Given the description of an element on the screen output the (x, y) to click on. 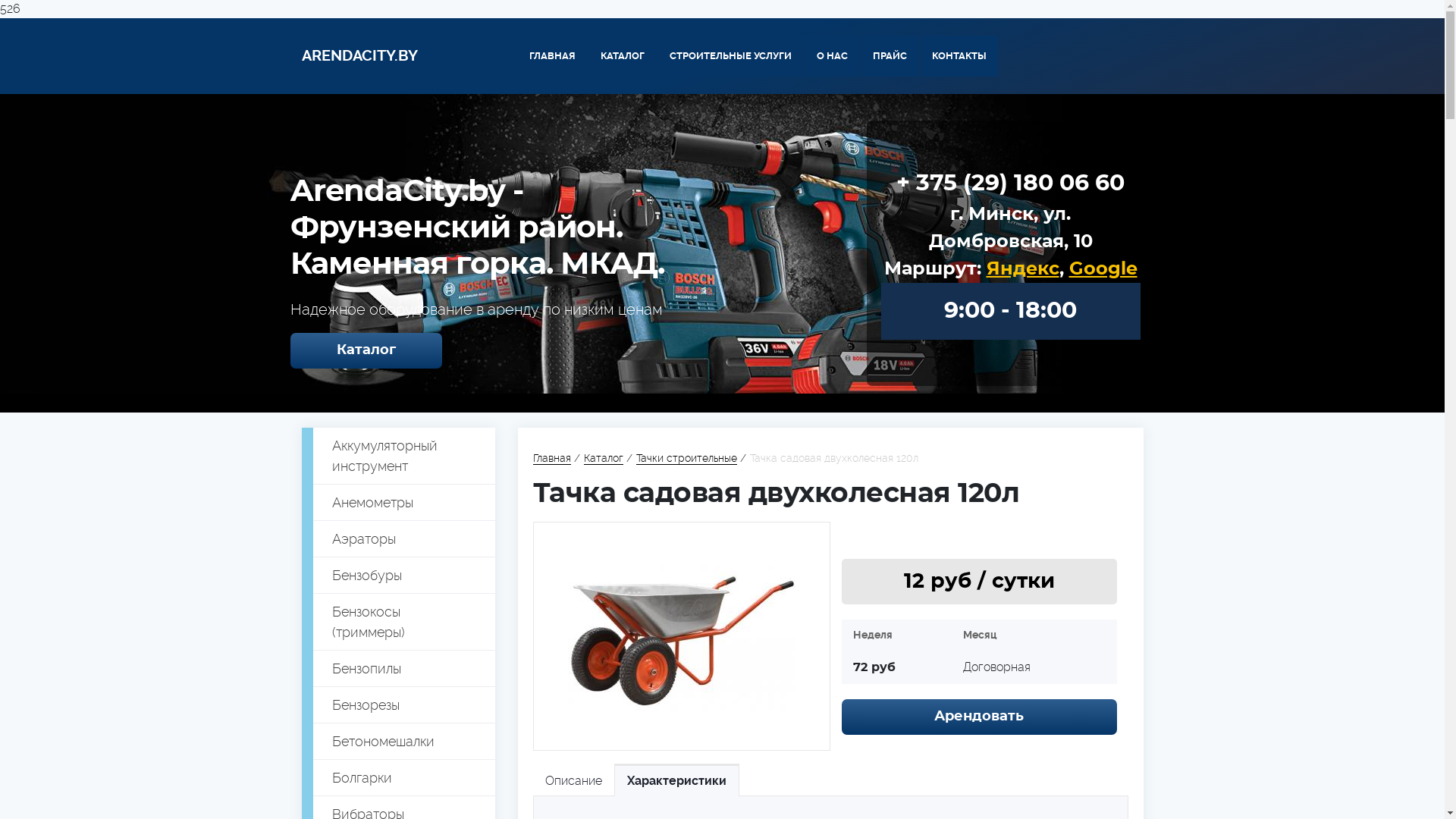
+ 375 (29) 180 06 60 Element type: text (1010, 183)
Google Element type: text (1103, 269)
ARENDACITY.BY Element type: text (359, 55)
